Given the description of an element on the screen output the (x, y) to click on. 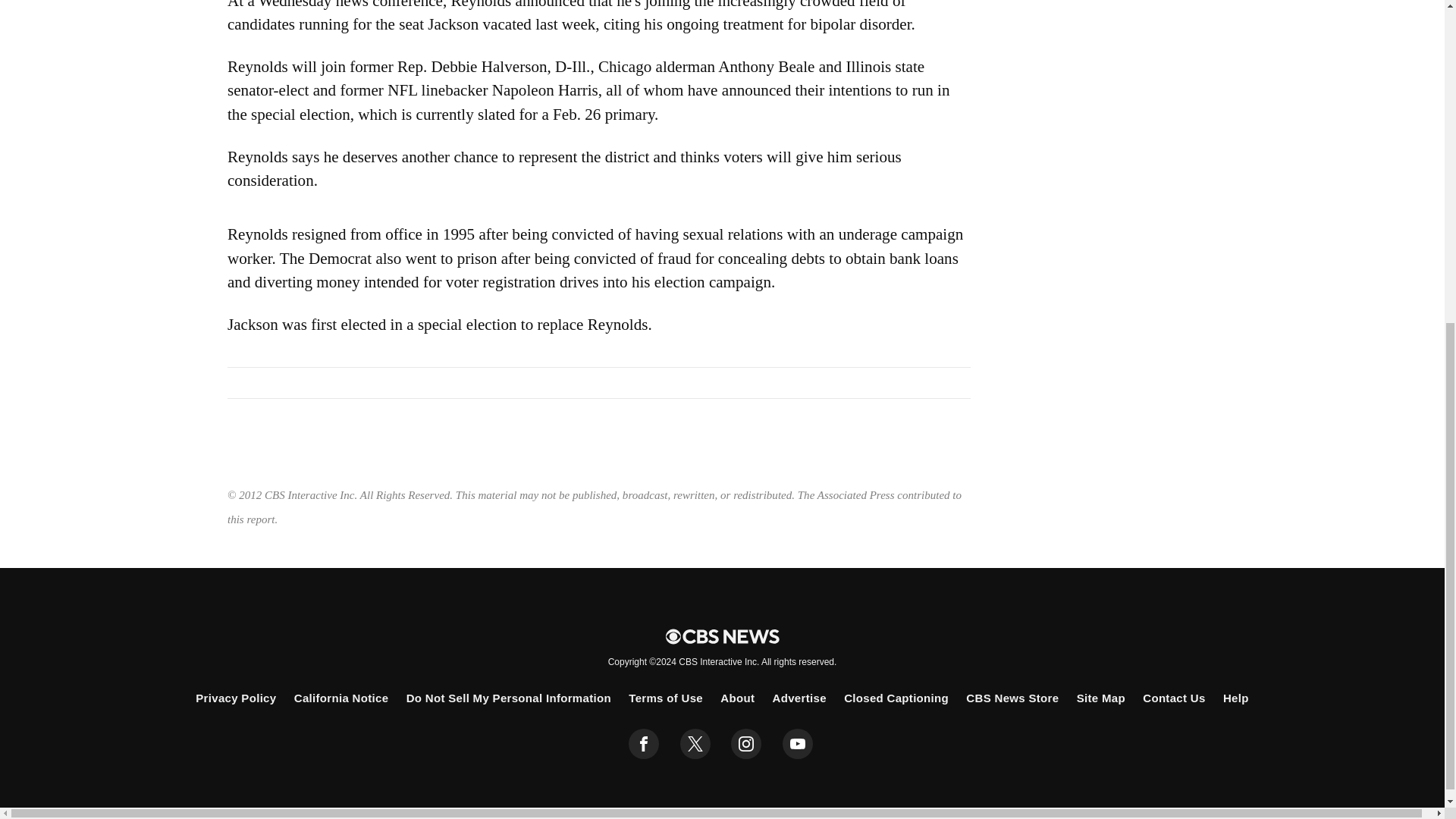
youtube (797, 743)
twitter (694, 743)
facebook (643, 743)
instagram (745, 743)
